Given the description of an element on the screen output the (x, y) to click on. 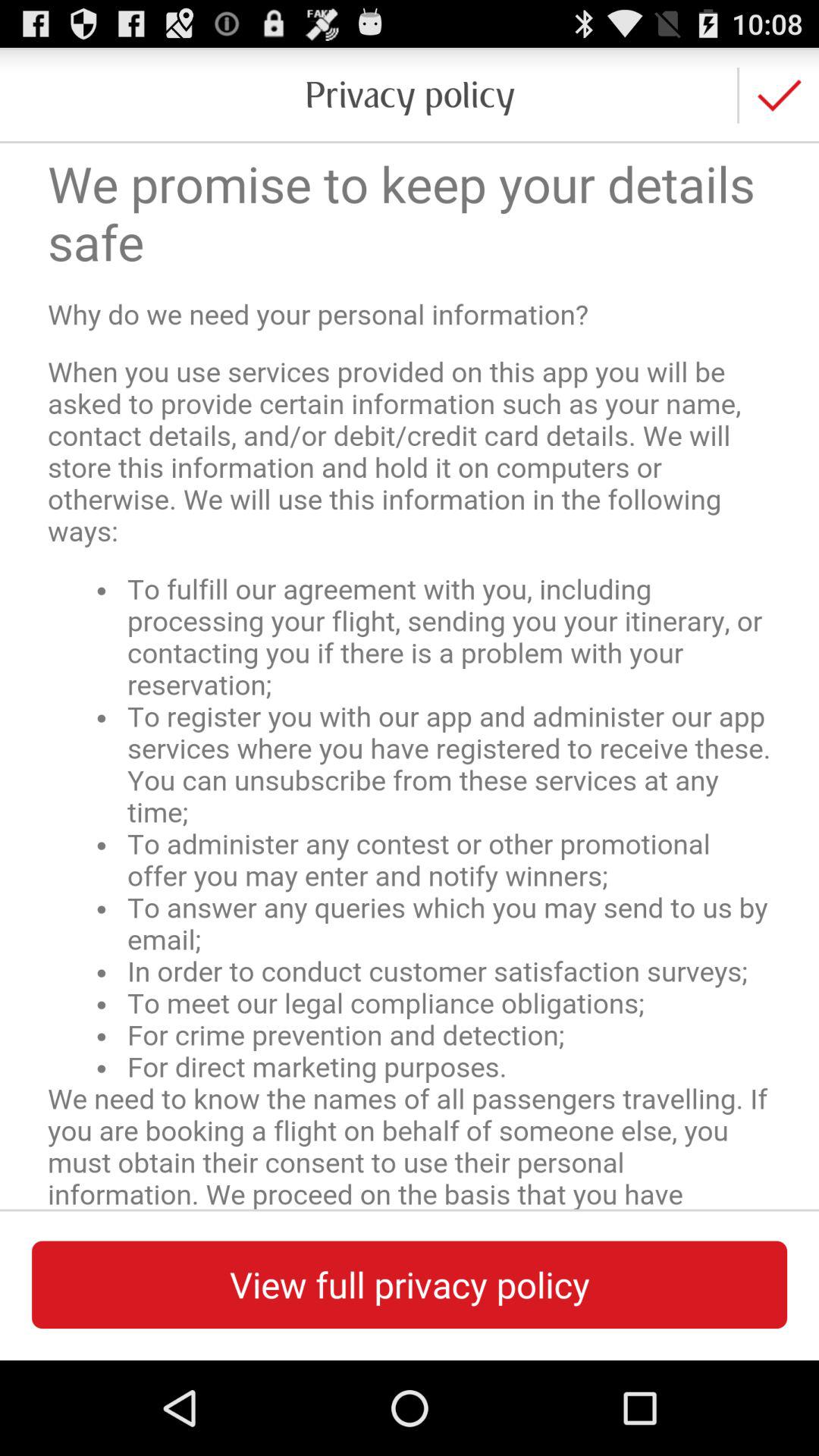
read full para (409, 676)
